Given the description of an element on the screen output the (x, y) to click on. 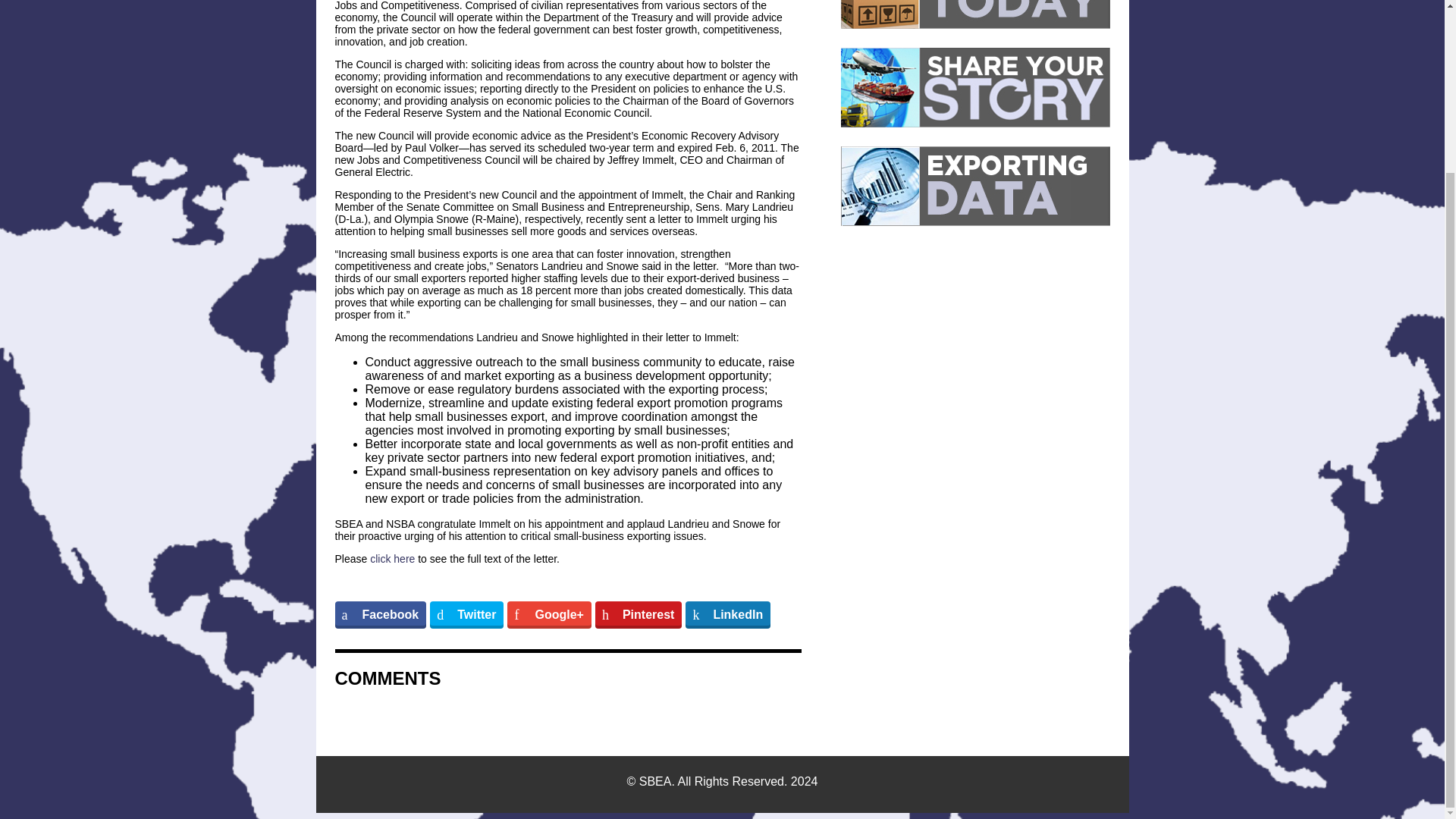
Twitter (466, 614)
Pinterest (638, 614)
LinkedIn (727, 614)
Facebook (380, 614)
click here (391, 558)
